Given the description of an element on the screen output the (x, y) to click on. 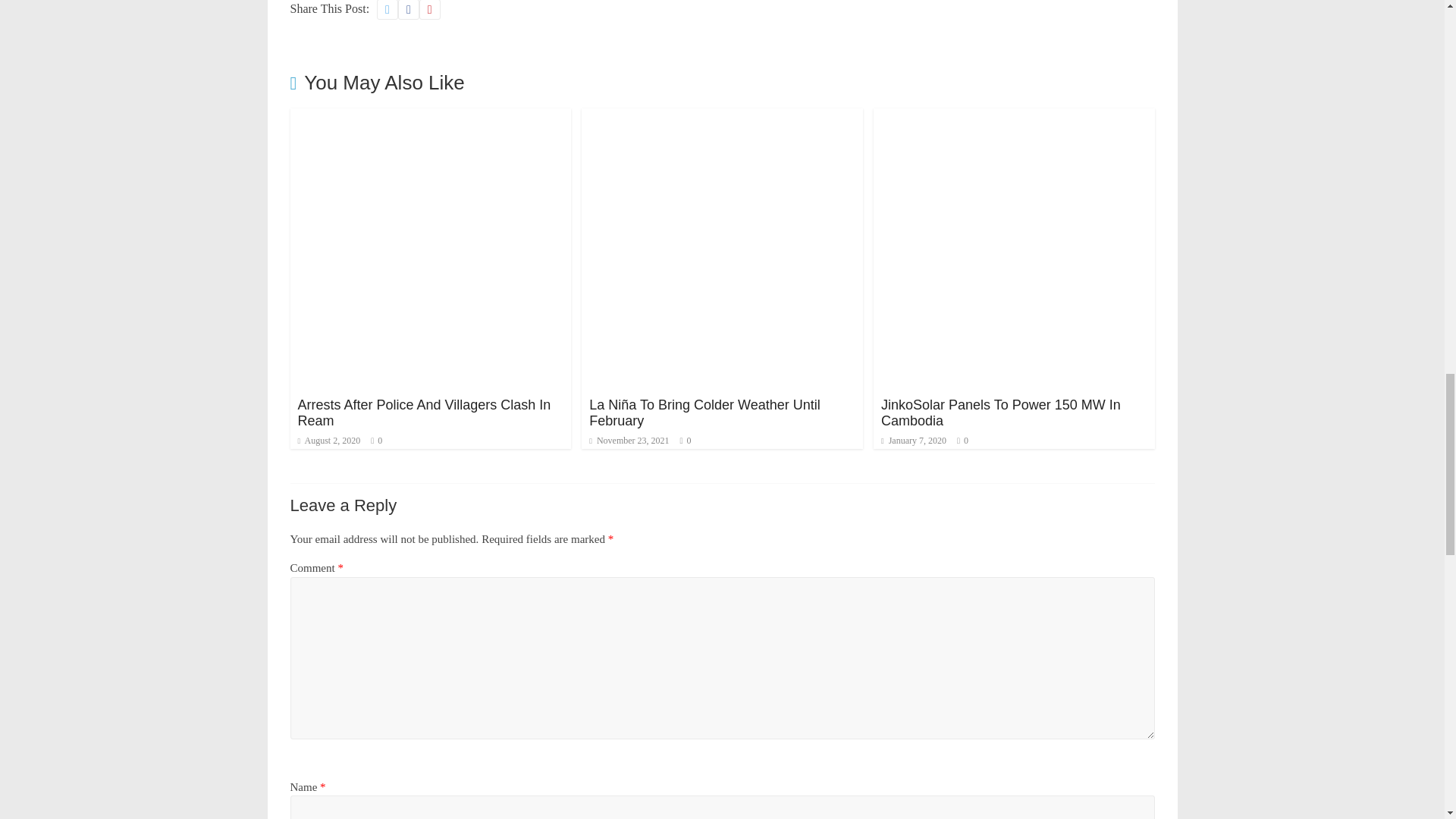
Arrests After Police And Villagers Clash In Ream (429, 117)
Arrests After Police And Villagers Clash In Ream (423, 413)
Arrests After Police And Villagers Clash In Ream (423, 413)
7:45 am (328, 439)
August 2, 2020 (328, 439)
